Given the description of an element on the screen output the (x, y) to click on. 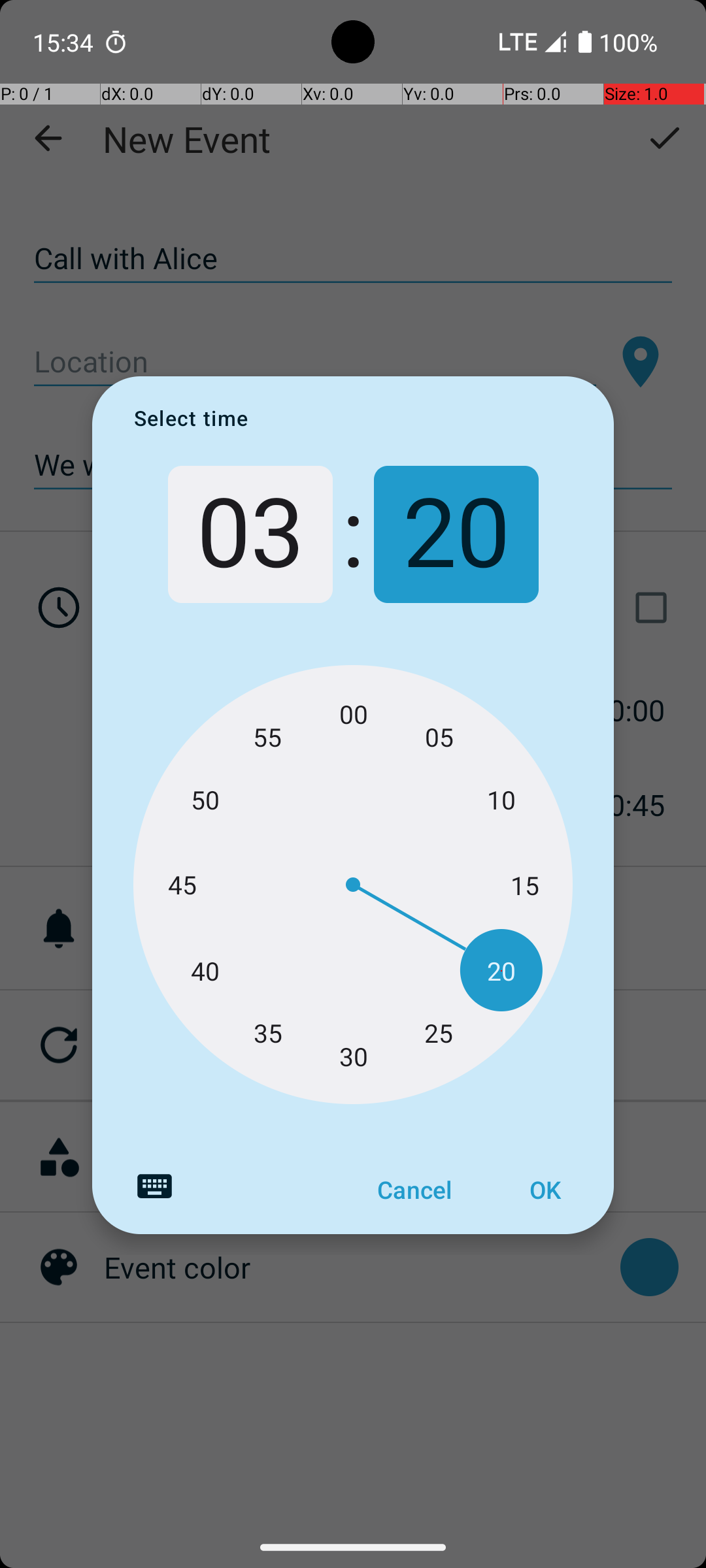
03 Element type: android.view.View (250, 534)
